Given the description of an element on the screen output the (x, y) to click on. 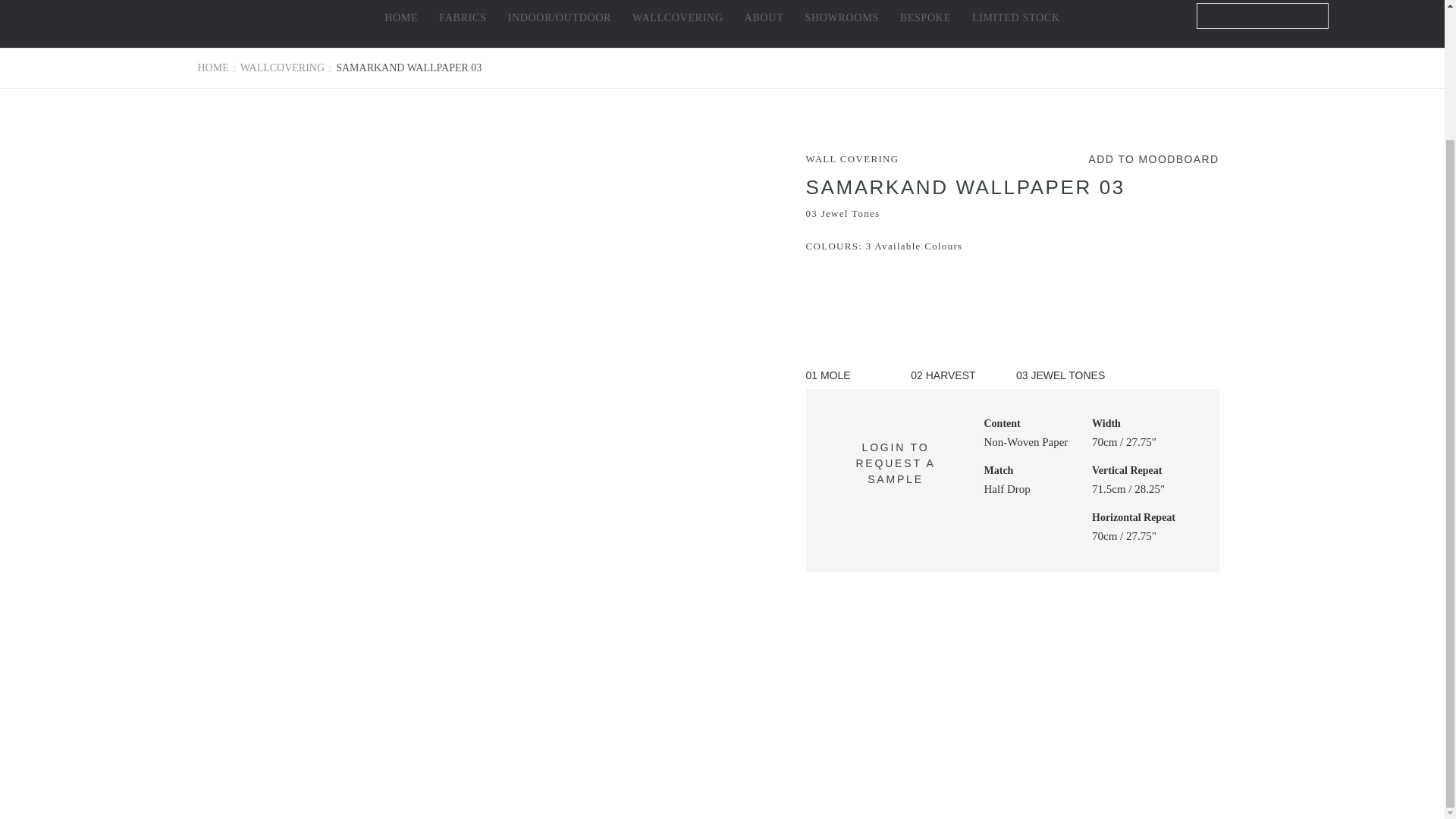
FABRICS (462, 17)
HOME (400, 17)
WALLCOVERING (677, 17)
